Given the description of an element on the screen output the (x, y) to click on. 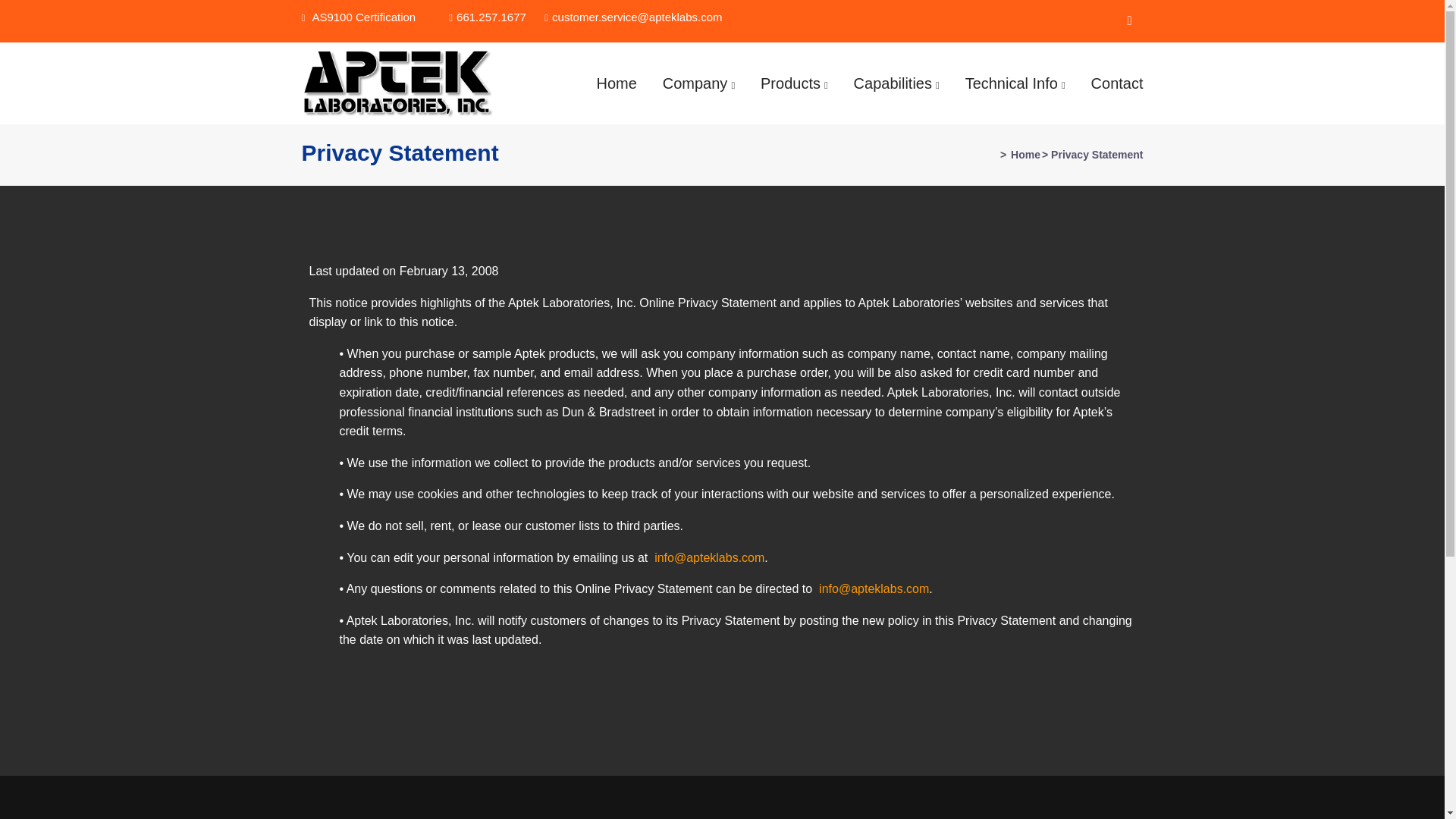
661.257.1677 (486, 17)
AS9100 Certification (362, 17)
